Given the description of an element on the screen output the (x, y) to click on. 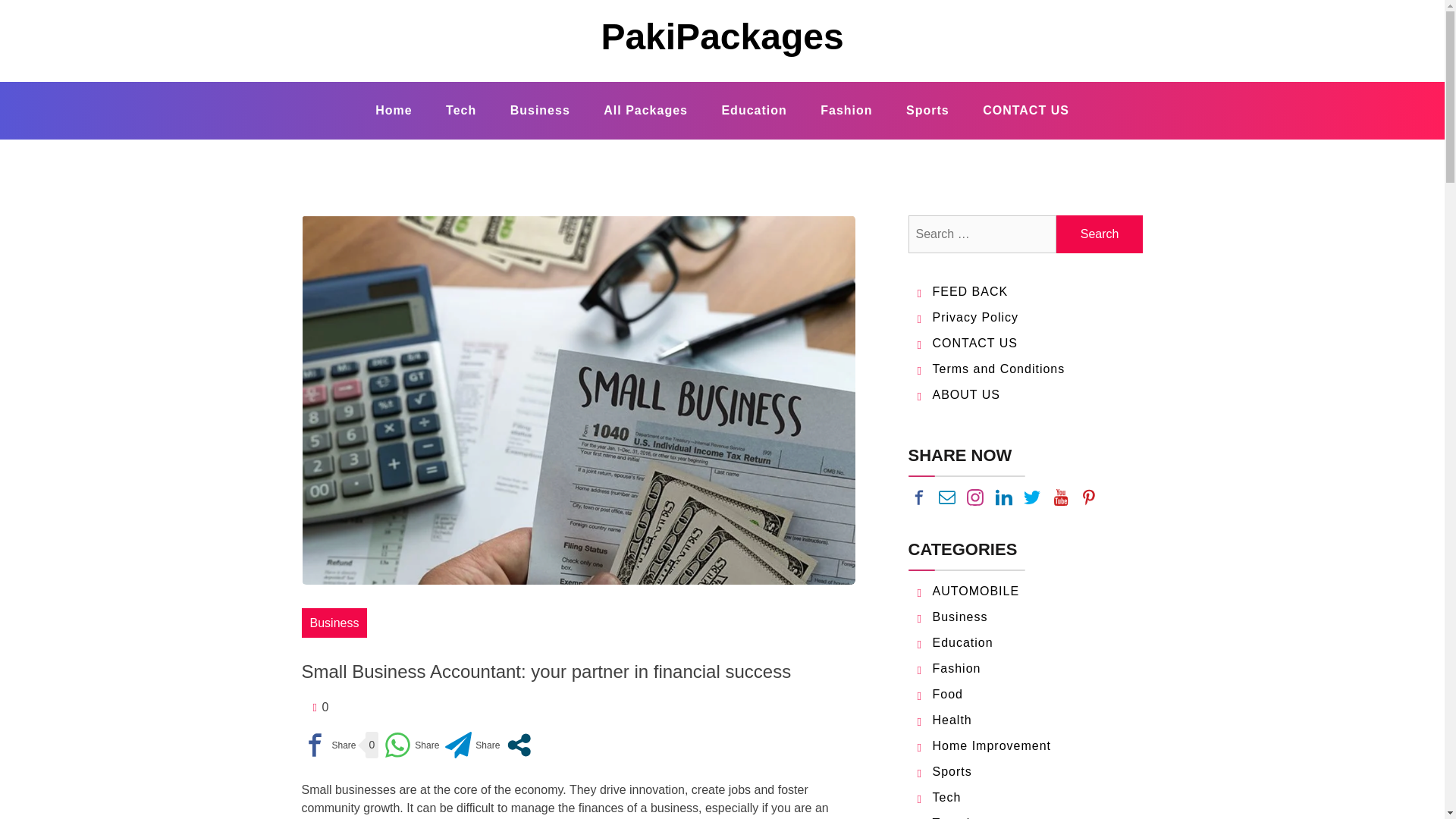
CONTACT US (1026, 110)
FEED BACK (971, 291)
Education (754, 110)
Search (1099, 234)
CONTACT US (975, 342)
Share on Facebook (328, 745)
Search (1099, 234)
All Packages (645, 110)
Share on WhatsApp (411, 745)
Fashion (845, 110)
